Given the description of an element on the screen output the (x, y) to click on. 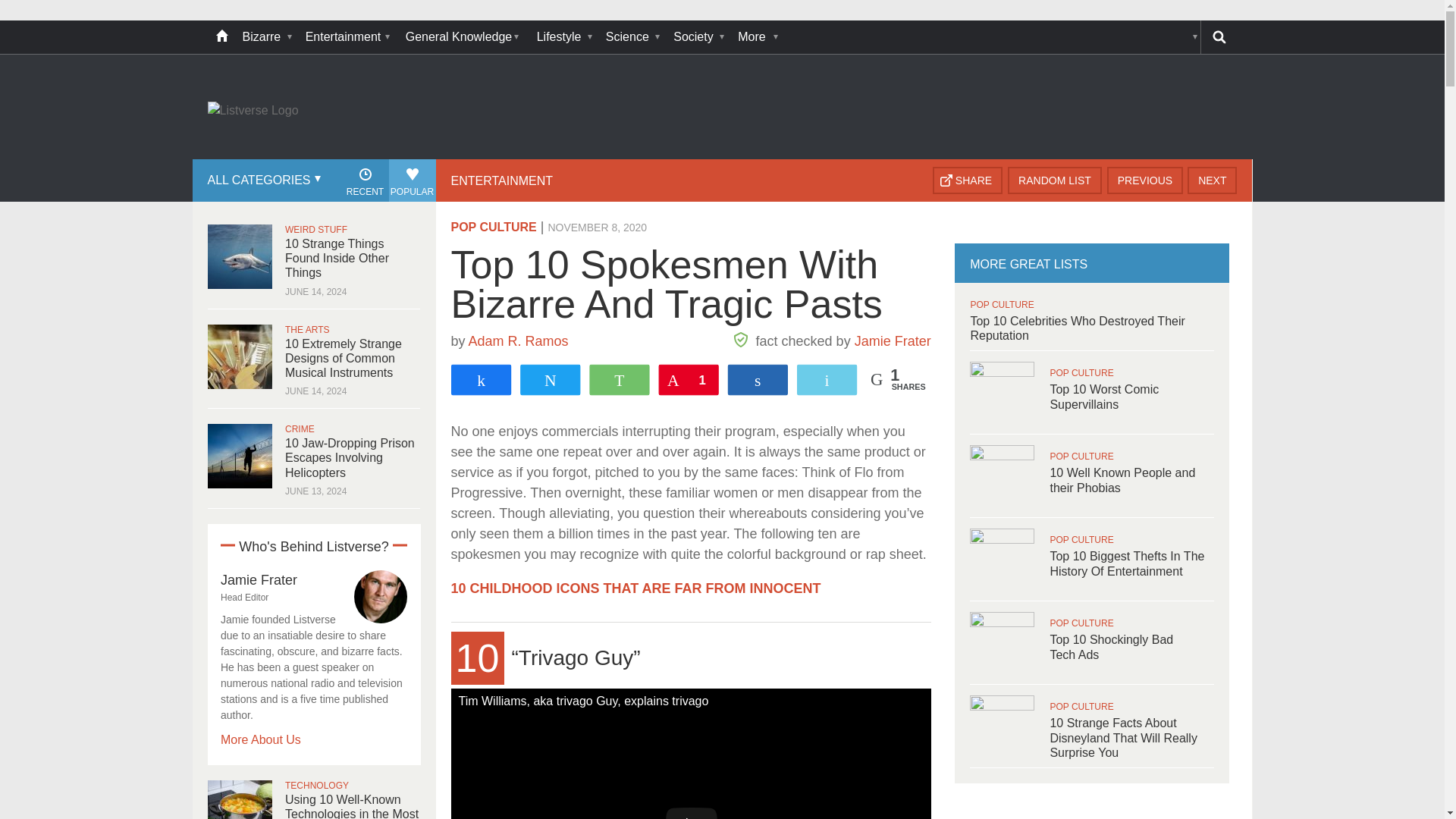
Science (631, 37)
Lifestyle (563, 37)
Recent (364, 179)
Entertainment (347, 37)
Popular (411, 179)
Bizarre (266, 37)
Society (697, 37)
Share (968, 180)
More (756, 37)
All Categories (262, 179)
General Knowledge (462, 37)
Go to Home (253, 110)
Tim Williams, aka trivago Guy, explains trivago (689, 753)
Go Home (221, 37)
